Given the description of an element on the screen output the (x, y) to click on. 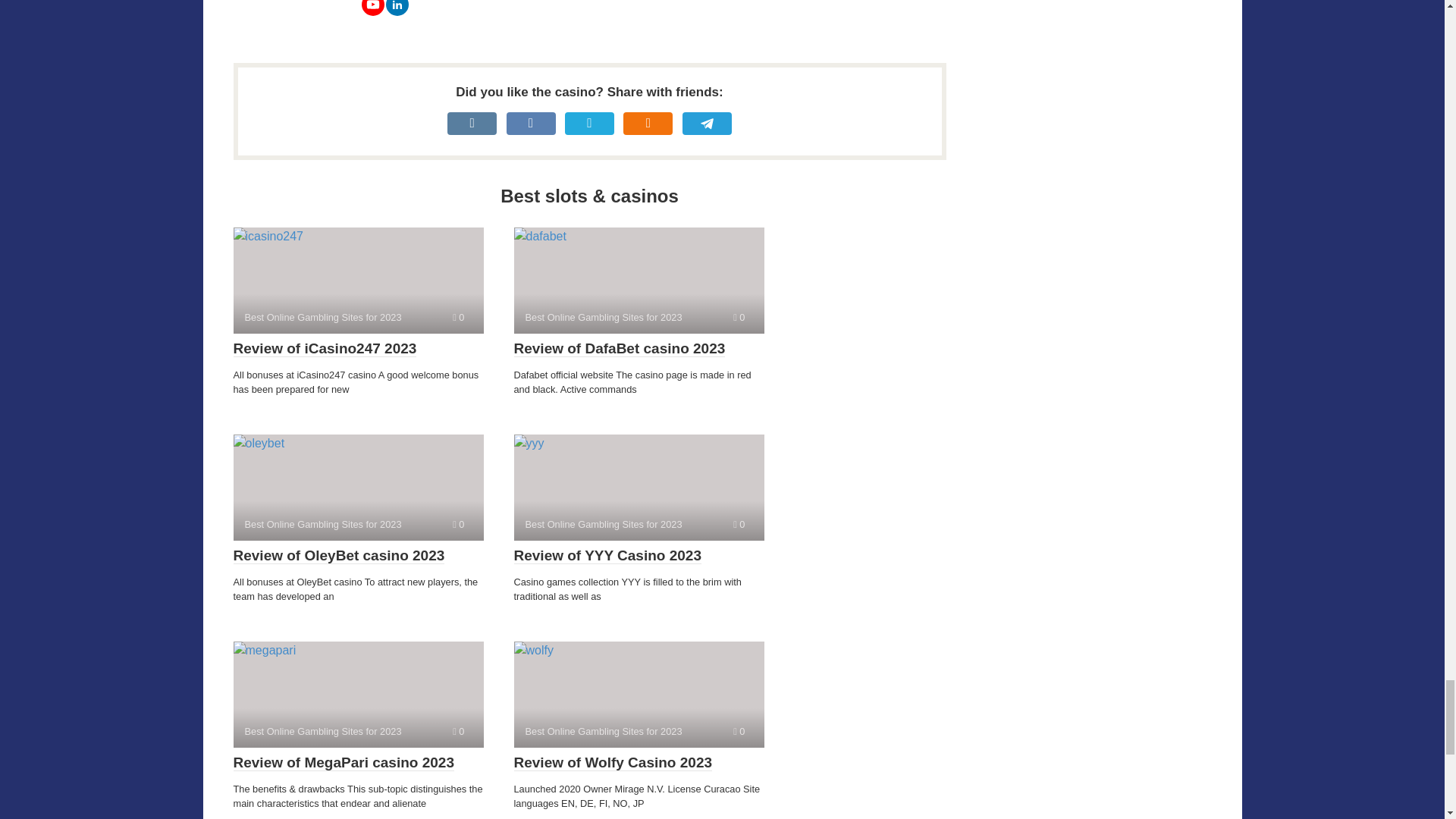
Comments (738, 317)
Comments (738, 523)
Comments (458, 731)
Comments (738, 731)
Comments (458, 317)
Comments (458, 523)
